Given the description of an element on the screen output the (x, y) to click on. 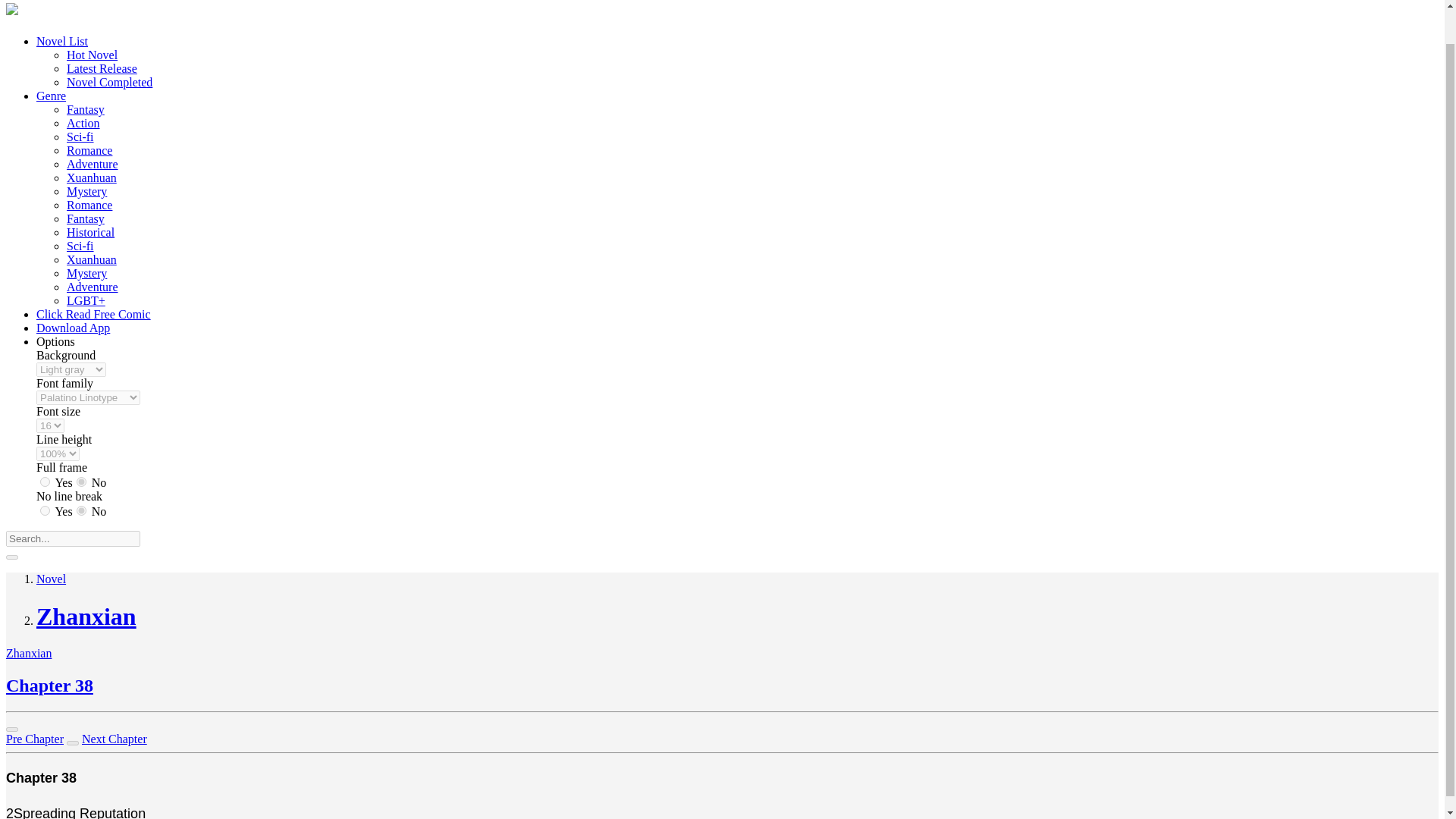
Action (83, 123)
no (81, 510)
Romance (89, 205)
Sci-fi (80, 245)
Download App (73, 327)
Genre (50, 95)
Zhanxian (27, 653)
Fantasy (85, 218)
Xuanhuan (91, 259)
Historical (90, 232)
Sci-fi (80, 245)
Completed Novel (109, 82)
Latest Release (101, 68)
Options (55, 341)
Next Chapter (114, 738)
